Given the description of an element on the screen output the (x, y) to click on. 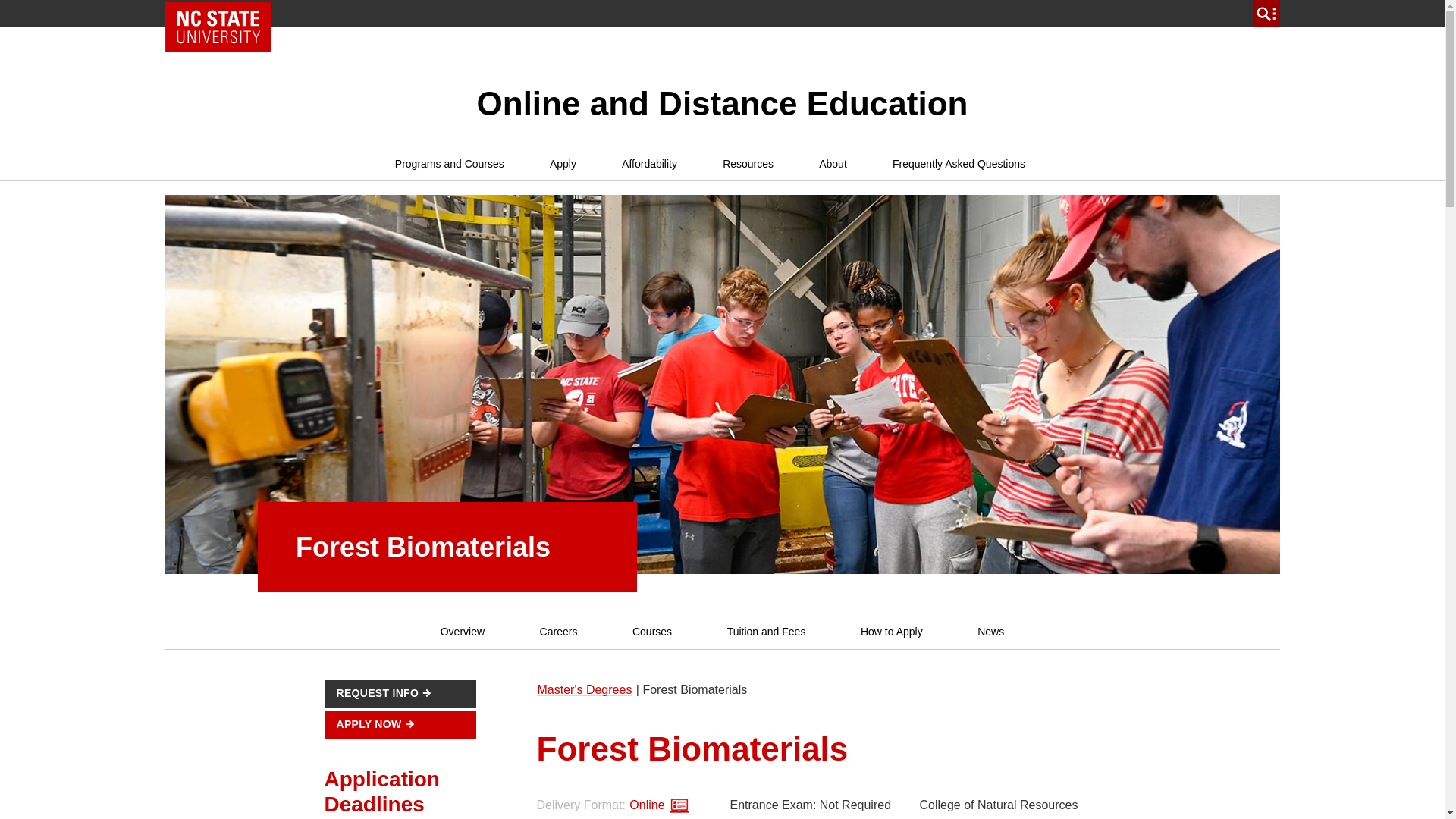
Affordability (649, 163)
NC State Home (217, 26)
Resources (747, 163)
Programs and Courses (449, 163)
Online and Distance Education (722, 103)
Apply (562, 163)
